Given the description of an element on the screen output the (x, y) to click on. 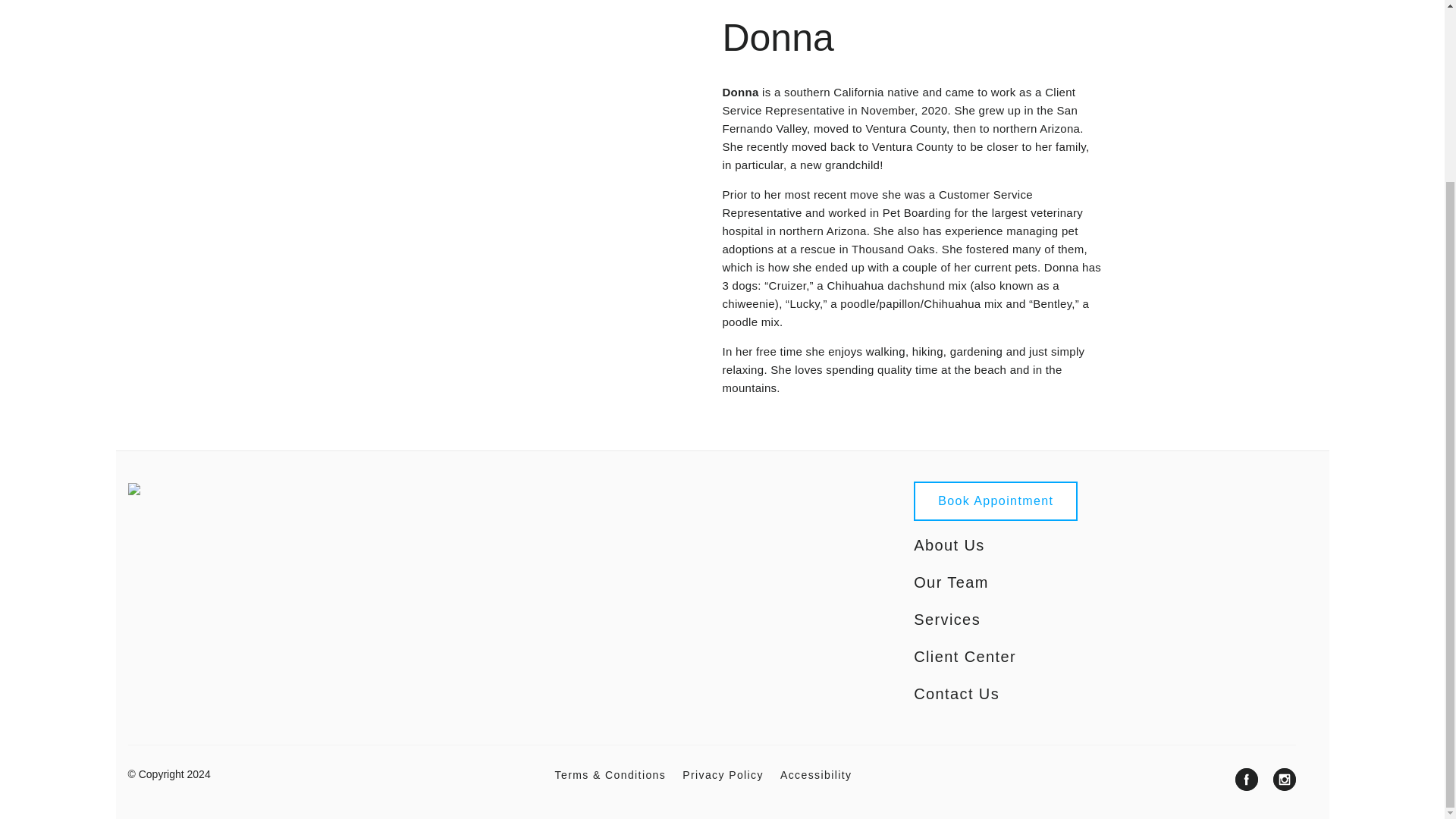
Book Appointment (995, 500)
Privacy Policy (722, 775)
Client Center (965, 656)
Accessibility (815, 775)
About Us (949, 545)
Services (946, 619)
Our Team (951, 581)
Contact Us (956, 694)
